Given the description of an element on the screen output the (x, y) to click on. 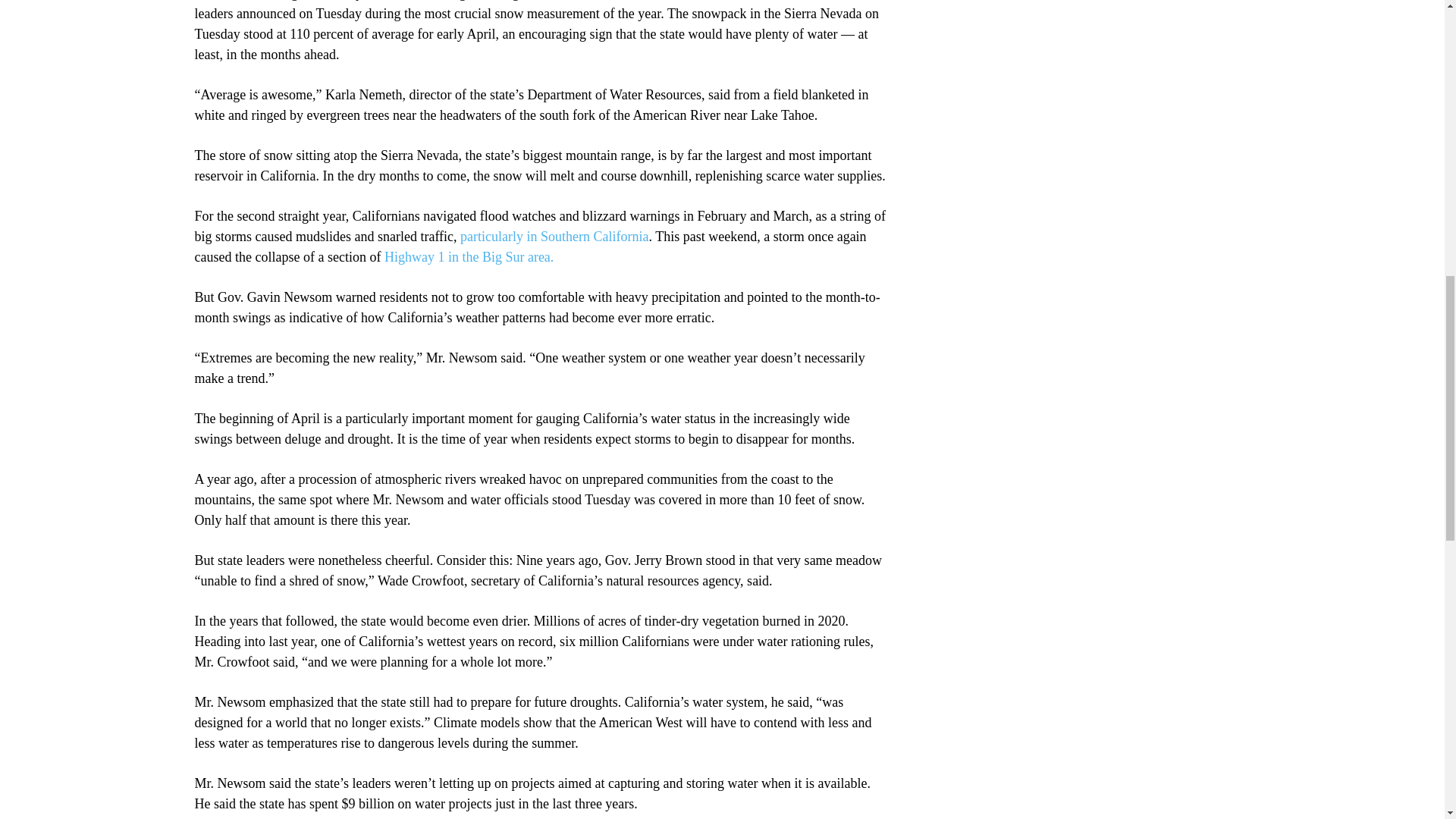
Highway 1 in the Big Sur area. (468, 256)
particularly in Southern California (553, 236)
